Given the description of an element on the screen output the (x, y) to click on. 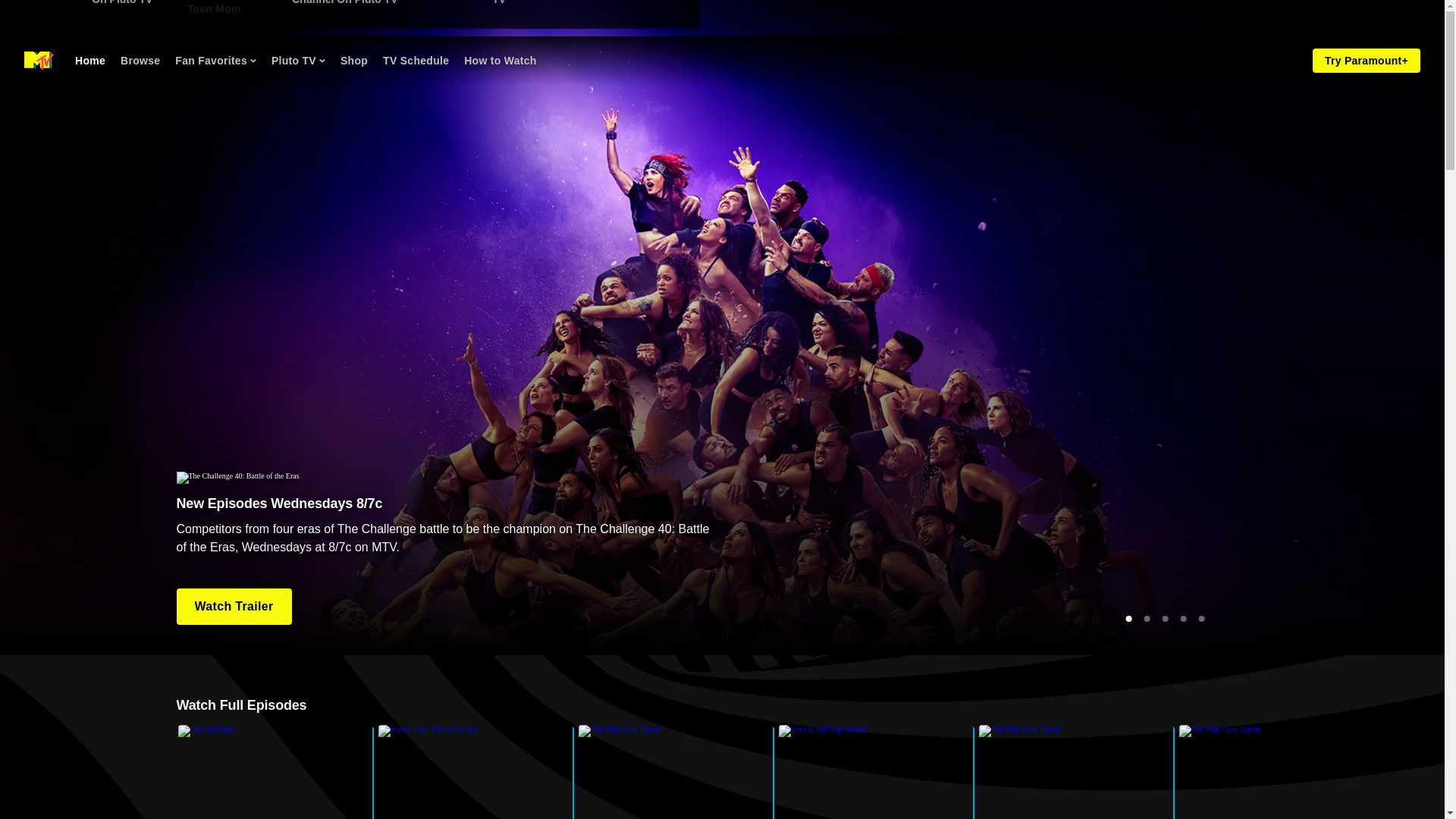
Watch MTV's Teen Mom On Pluto TV (582, 6)
Teen Mom (213, 7)
Watch Trailer (233, 606)
Chevron-icon (321, 60)
Chevron-icon (253, 60)
Fan Favorites (215, 60)
Pluto TV (297, 60)
How to Watch (274, 771)
false (499, 60)
